Given the description of an element on the screen output the (x, y) to click on. 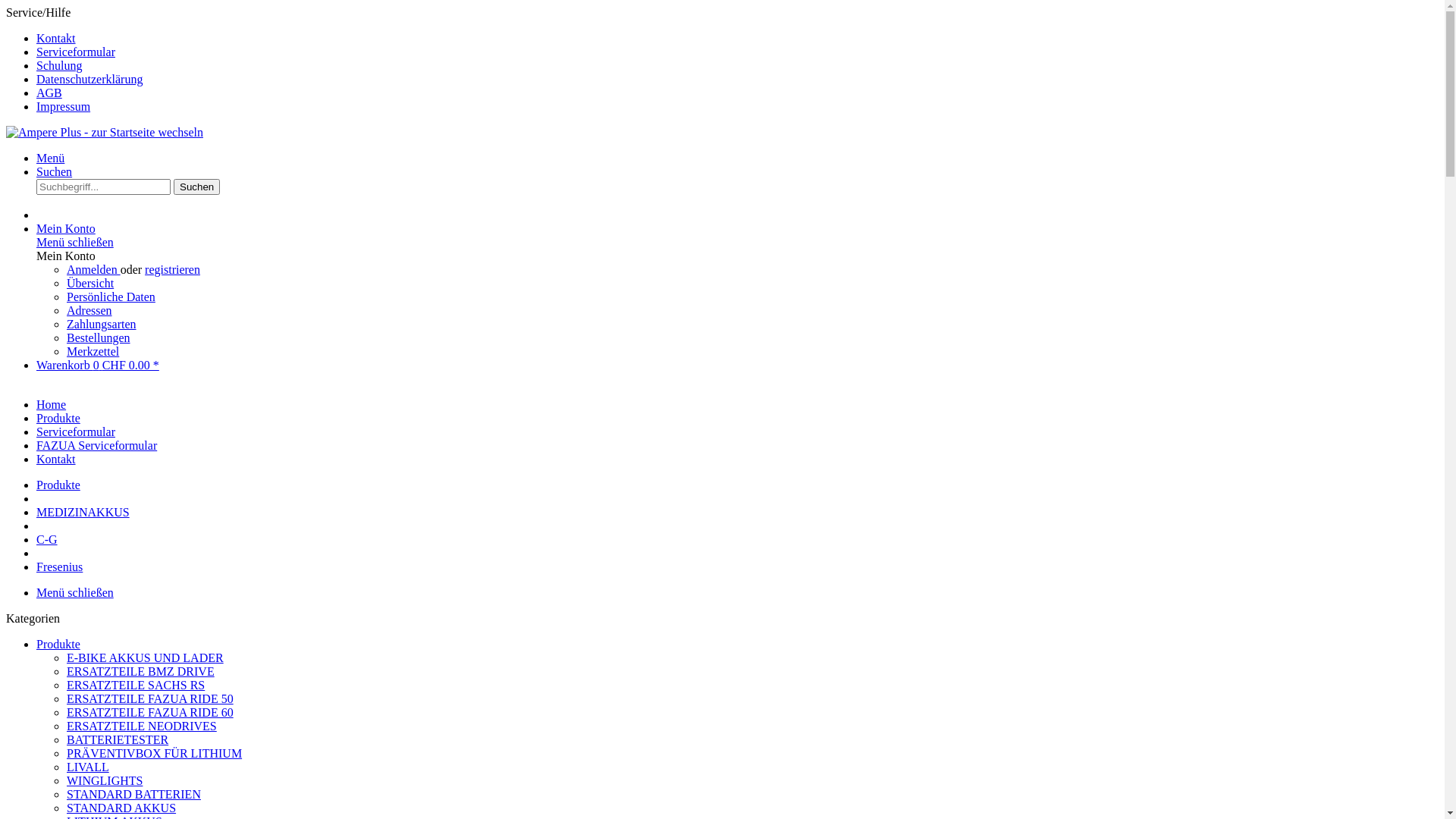
Impressum Element type: text (63, 106)
Serviceformular Element type: text (75, 431)
Suchen Element type: text (196, 186)
Adressen Element type: text (89, 310)
Produkte Element type: text (58, 484)
Schulung Element type: text (58, 65)
STANDARD BATTERIEN Element type: text (133, 793)
Ampere Plus - zur Startseite wechseln Element type: hover (104, 131)
ERSATZTEILE NEODRIVES Element type: text (141, 725)
ERSATZTEILE BMZ DRIVE Element type: text (140, 671)
STANDARD AKKUS Element type: text (120, 807)
Bestellungen Element type: text (98, 337)
registrieren Element type: text (172, 269)
FAZUA Serviceformular Element type: text (96, 445)
Zahlungsarten Element type: text (101, 323)
Mein Konto Element type: text (65, 228)
ERSATZTEILE SACHS RS Element type: text (135, 684)
LIVALL Element type: text (87, 766)
E-BIKE AKKUS UND LADER Element type: text (144, 657)
WINGLIGHTS Element type: text (104, 780)
Produkte Element type: text (58, 643)
C-G Element type: text (46, 539)
MEDIZINAKKUS Element type: text (82, 511)
Suchen Element type: text (54, 171)
Home Element type: text (50, 404)
Serviceformular Element type: text (75, 51)
ERSATZTEILE FAZUA RIDE 50 Element type: text (149, 698)
Produkte Element type: text (58, 417)
Anmelden Element type: text (93, 269)
AGB Element type: text (49, 92)
ERSATZTEILE FAZUA RIDE 60 Element type: text (149, 712)
Warenkorb 0 CHF 0.00 * Element type: text (97, 364)
Merkzettel Element type: text (92, 351)
BATTERIETESTER Element type: text (117, 739)
Kontakt Element type: text (55, 458)
Fresenius Element type: text (59, 566)
Kontakt Element type: text (55, 37)
